Given the description of an element on the screen output the (x, y) to click on. 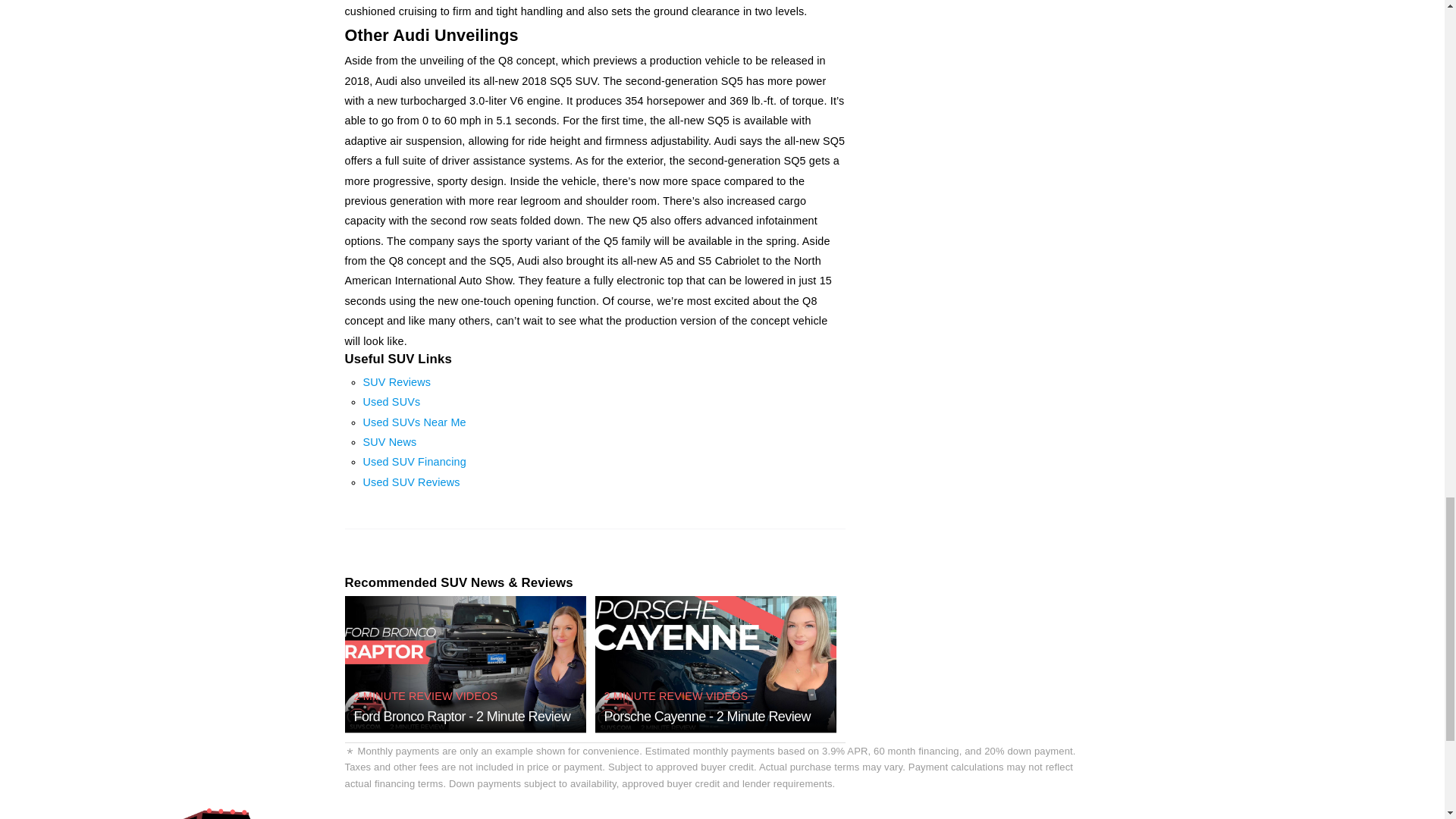
SUV News (389, 441)
Used SUV Reviews (411, 481)
Used SUVs (391, 401)
SUV Reviews (396, 381)
Ford Bronco Raptor - 2 Minute Review (461, 716)
SUV news, reviews, and used cars for sale. (219, 813)
Used SUV Financing (413, 461)
Used SUVs Near Me (413, 422)
Porsche Cayenne - 2 Minute Review (706, 716)
